Given the description of an element on the screen output the (x, y) to click on. 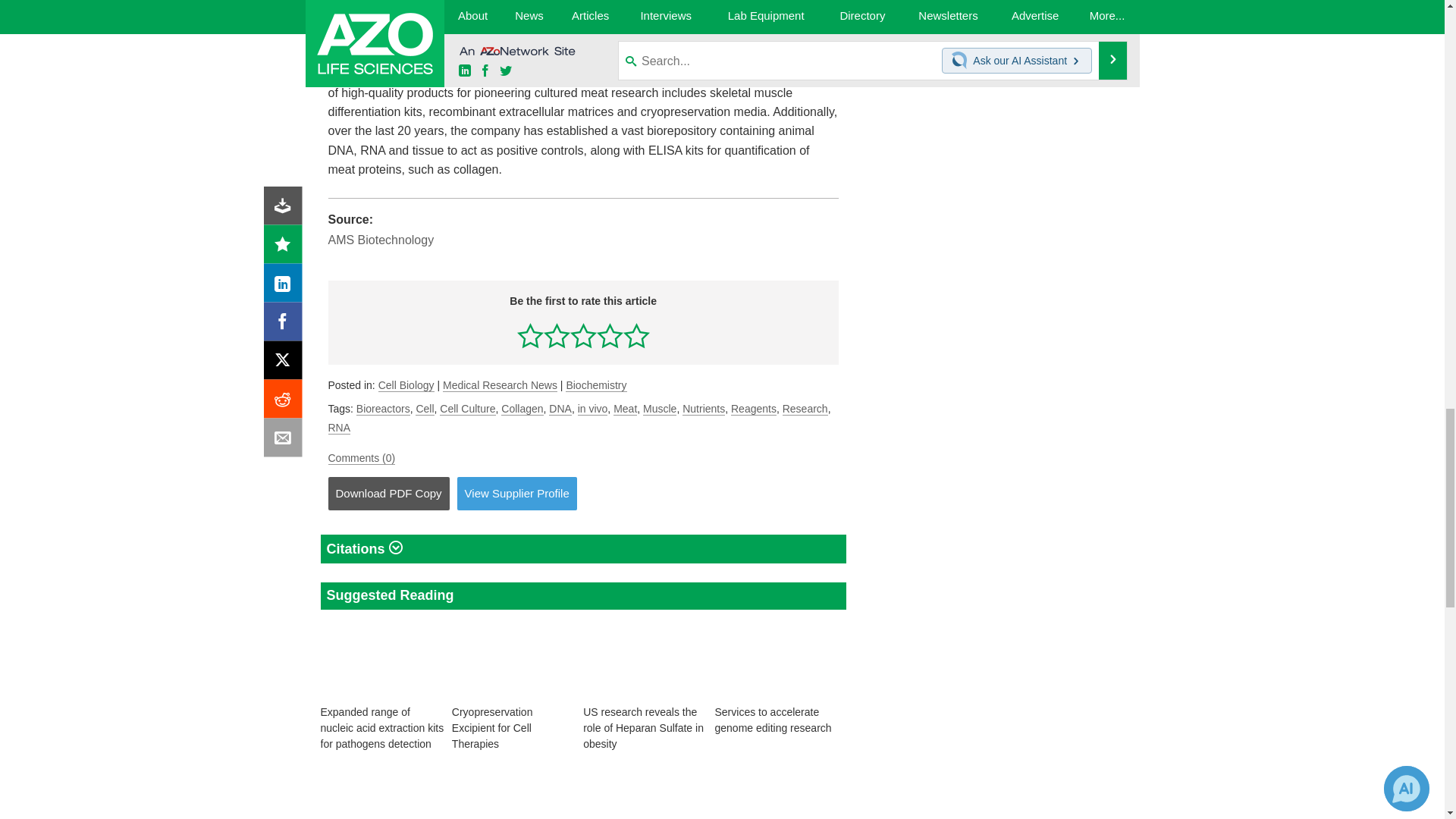
Rate this 5 stars out of 5 (636, 335)
